Given the description of an element on the screen output the (x, y) to click on. 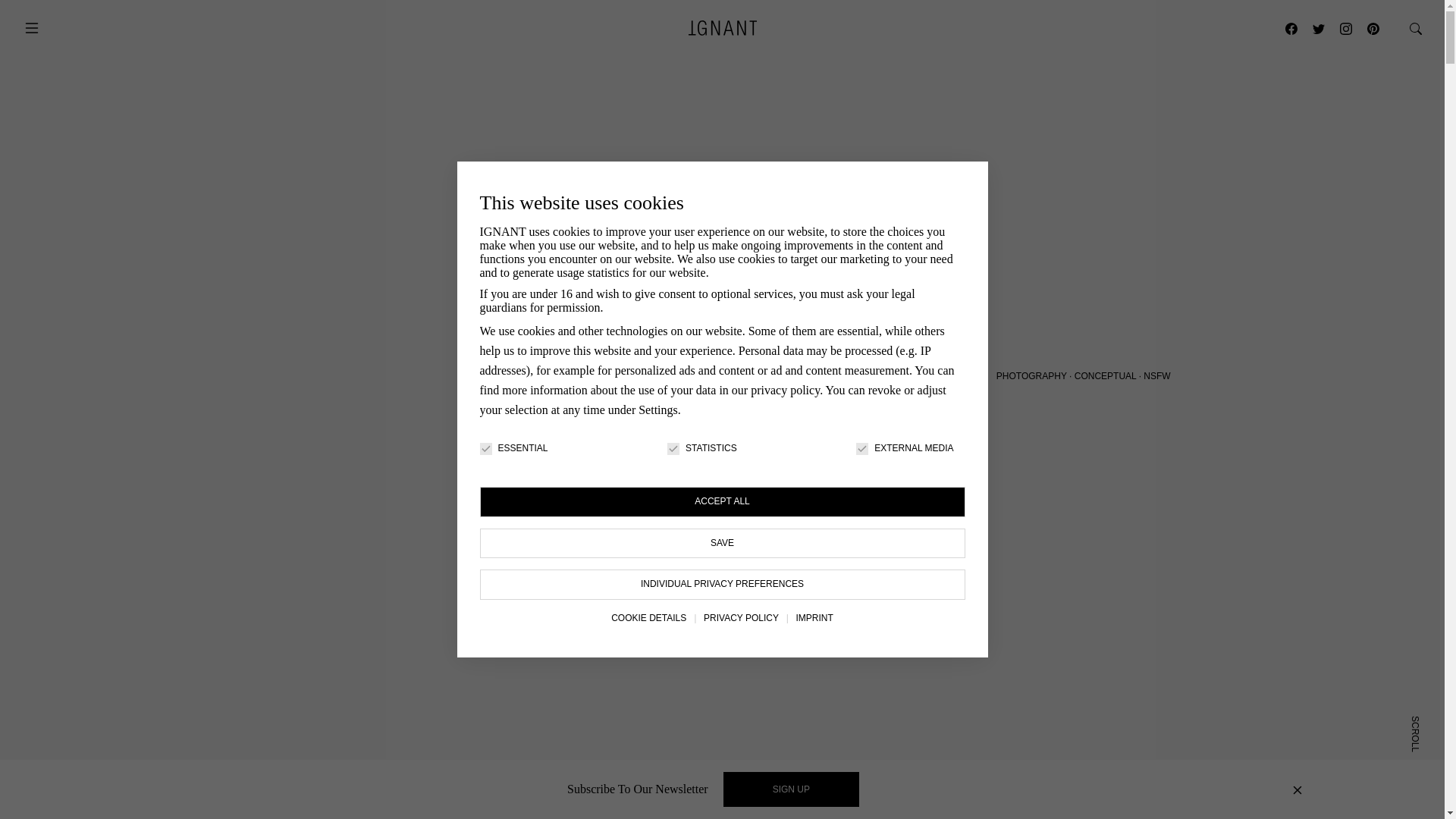
CONCEPTUAL (1105, 376)
NSFW (1156, 376)
PHOTOGRAPHY (1031, 376)
